Given the description of an element on the screen output the (x, y) to click on. 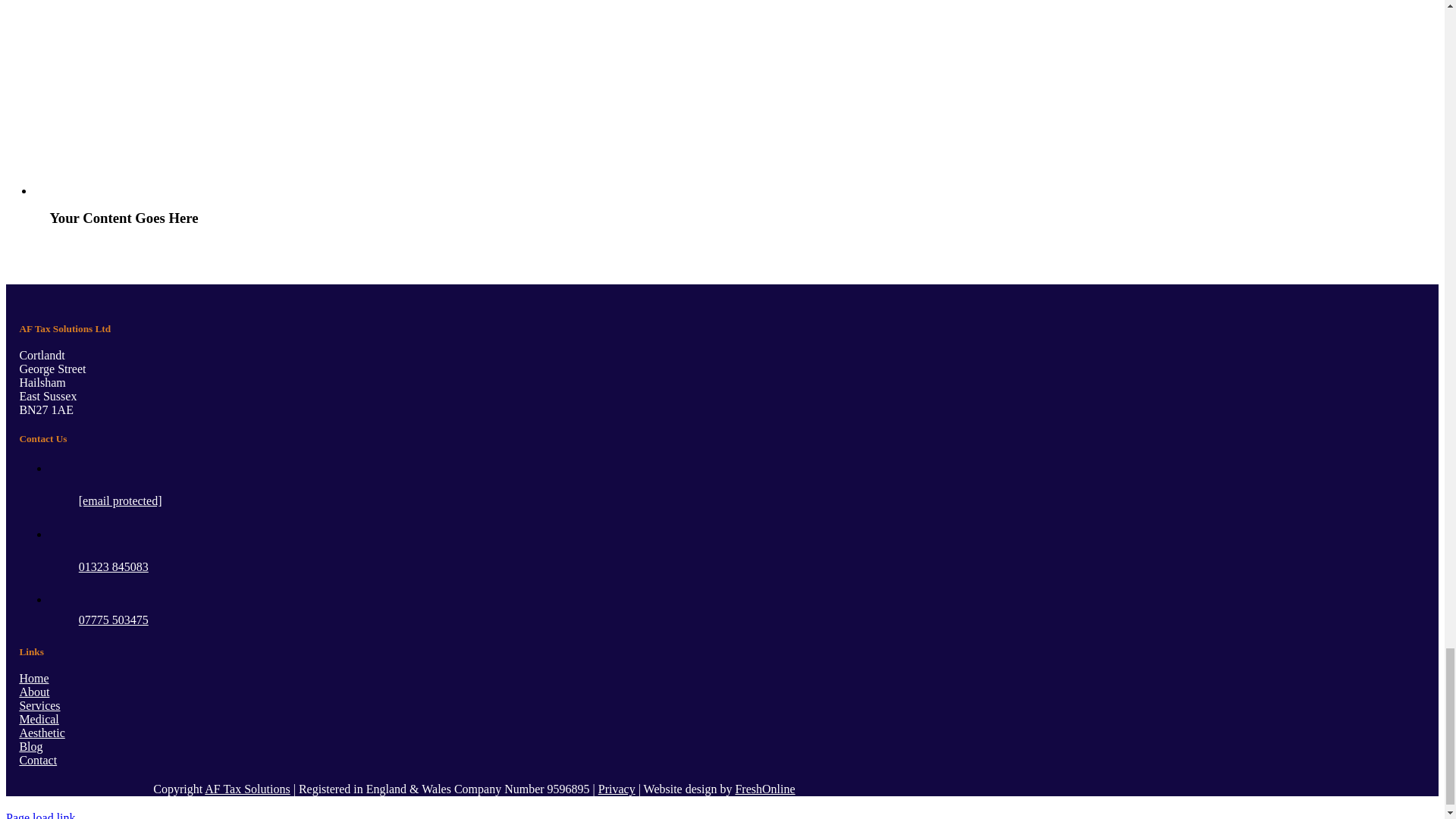
Medical (38, 718)
AF Tax Solutions (247, 788)
Services (38, 705)
01323 845083 (113, 566)
07775 503475 (113, 619)
About (33, 691)
Privacy (616, 788)
Blog (30, 746)
FreshOnline (764, 788)
Aesthetic (41, 732)
Home (33, 677)
Contact (37, 759)
